Given the description of an element on the screen output the (x, y) to click on. 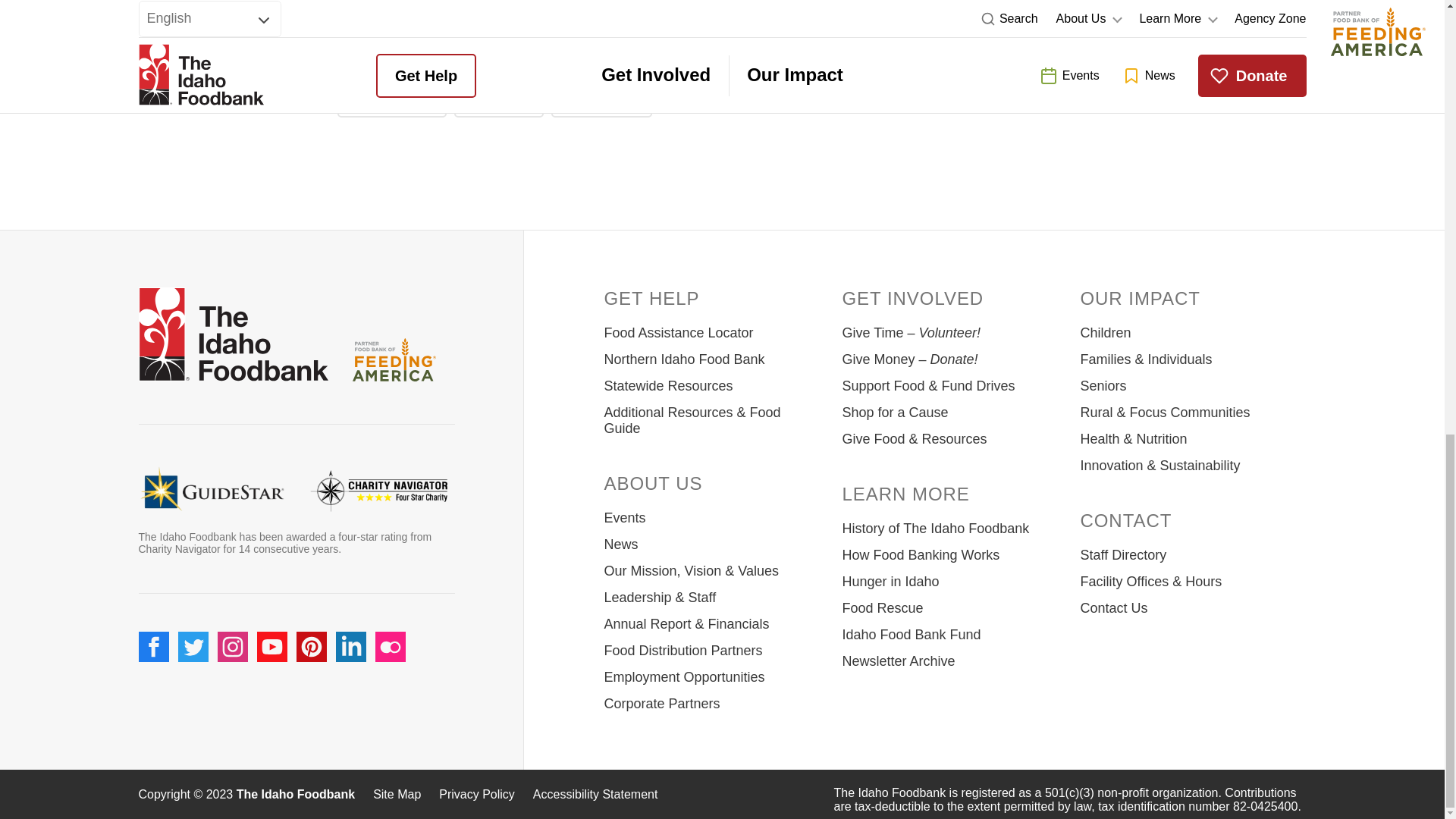
Share: Facebook (390, 99)
linkedin (349, 603)
facebook (153, 603)
pinterest (310, 603)
youtube (271, 603)
Share: LinkedIn (601, 99)
flickr (389, 603)
twitter (192, 603)
Go to Home page (232, 336)
Share: Twitter (498, 99)
